Given the description of an element on the screen output the (x, y) to click on. 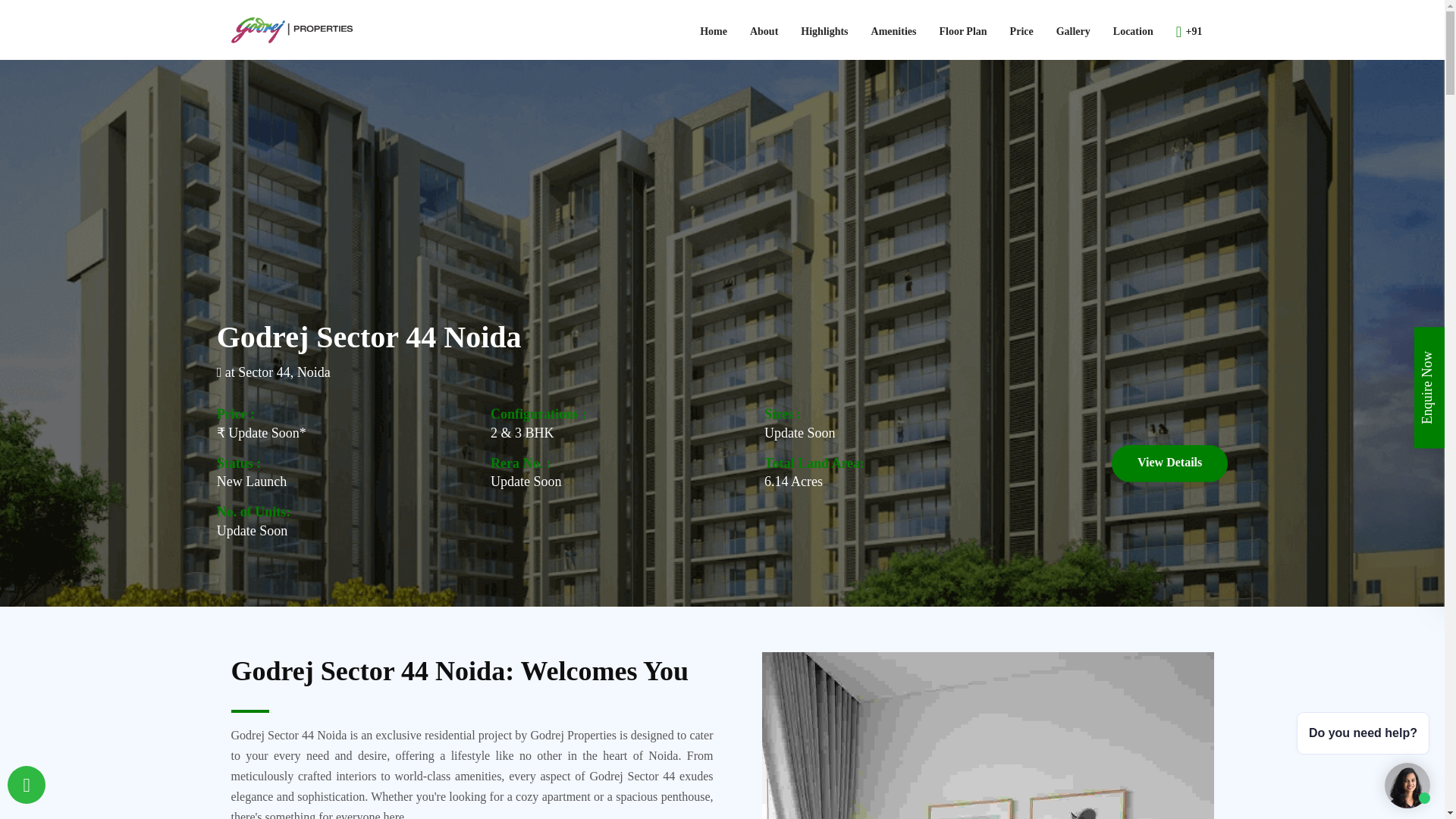
Floor Plan (962, 29)
Gallery (1073, 29)
Highlights (824, 29)
Godrej Sector 44 Noida (291, 29)
Amenities (894, 29)
Location (1133, 29)
View Details (1169, 462)
